Given the description of an element on the screen output the (x, y) to click on. 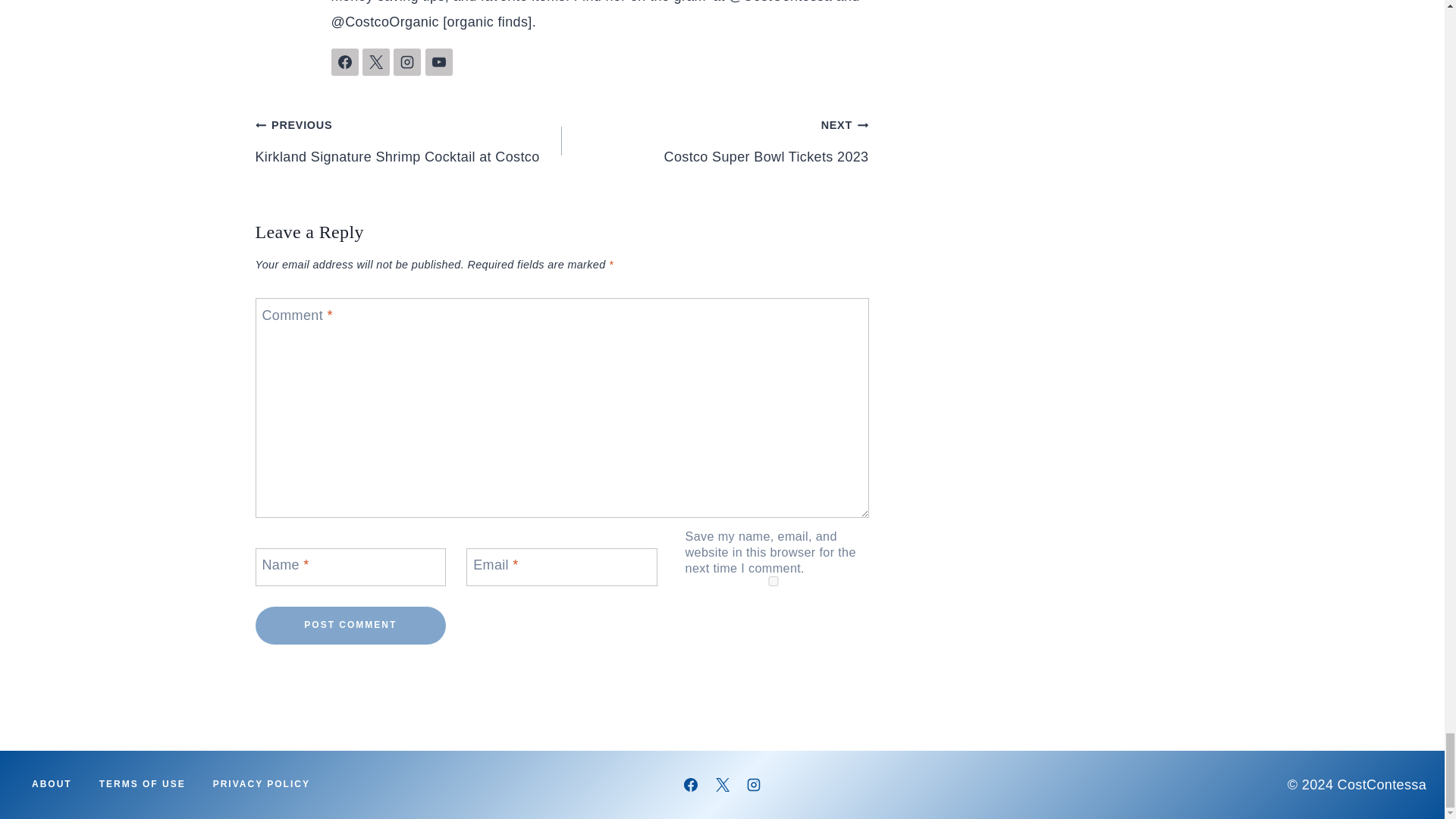
Follow Marie on Youtube (438, 62)
yes (773, 581)
Follow Marie on Facebook (344, 62)
Post Comment (349, 624)
Follow Marie on Instagram (406, 62)
Follow Marie on X formerly Twitter (376, 62)
